Given the description of an element on the screen output the (x, y) to click on. 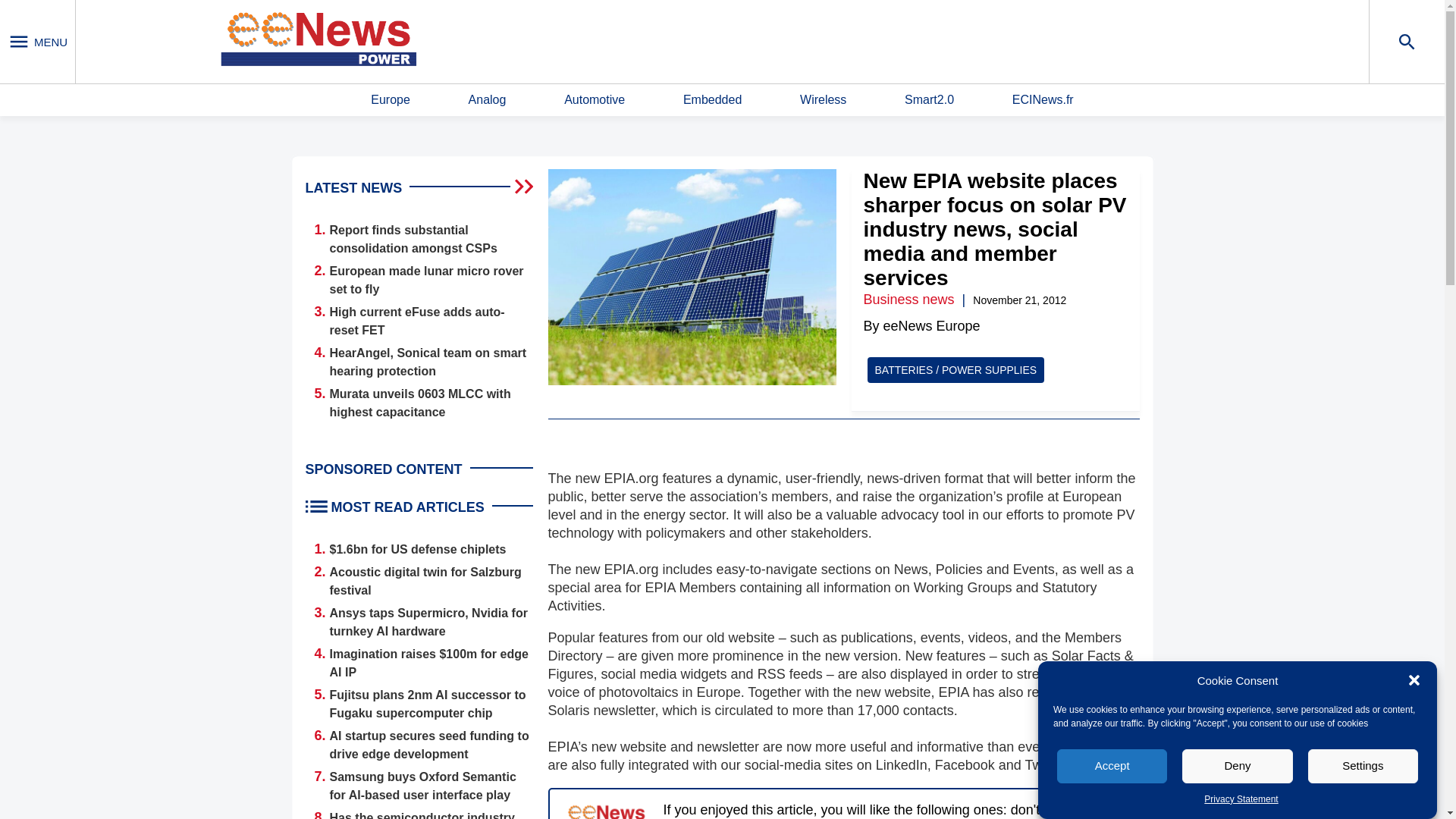
Analog (487, 99)
Europe (390, 99)
Smart2.0 (928, 99)
ECINews.fr (1042, 99)
Wireless (822, 99)
Embedded (711, 99)
Automotive (594, 99)
